Given the description of an element on the screen output the (x, y) to click on. 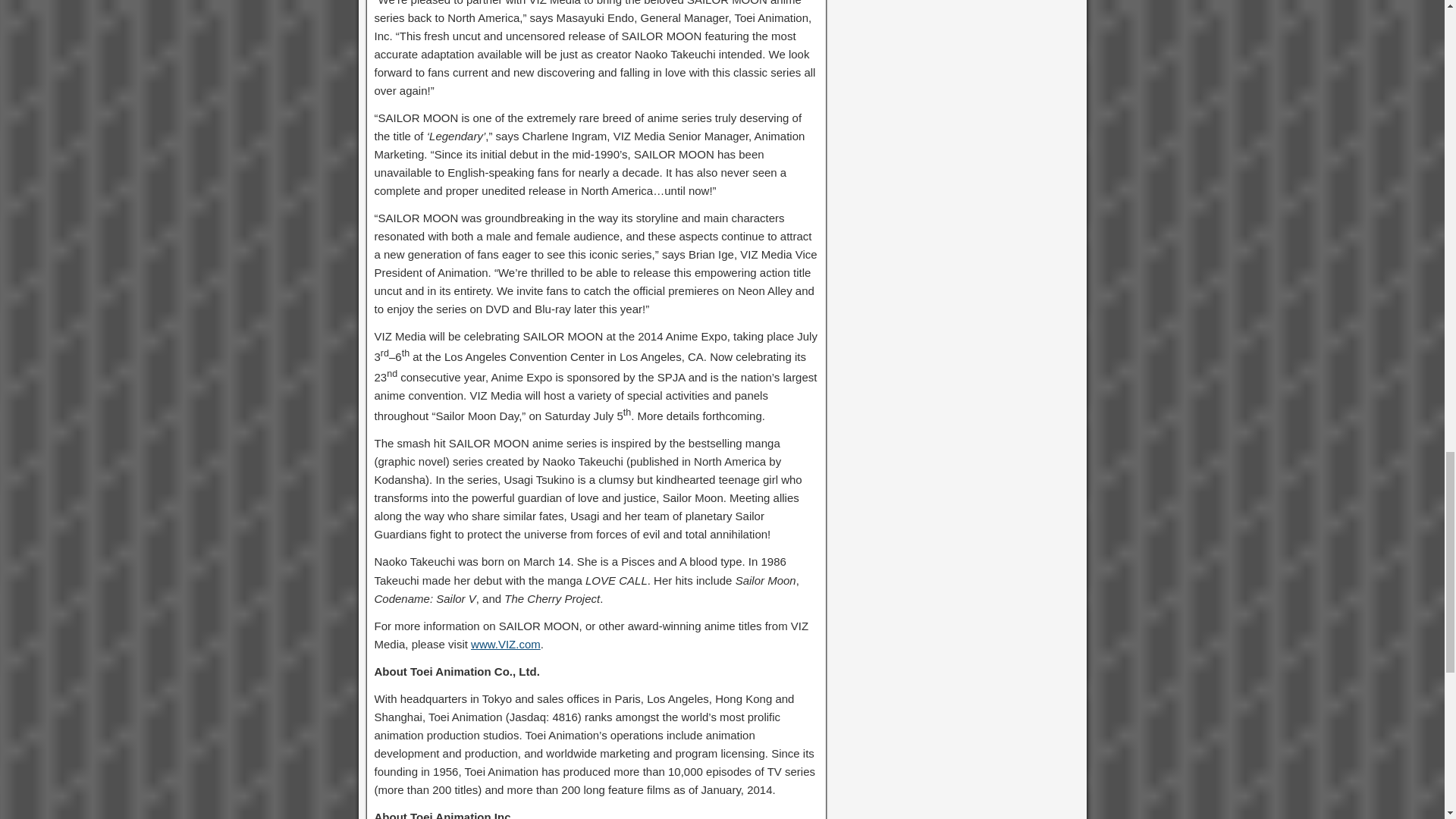
www.VIZ.com (505, 644)
